Given the description of an element on the screen output the (x, y) to click on. 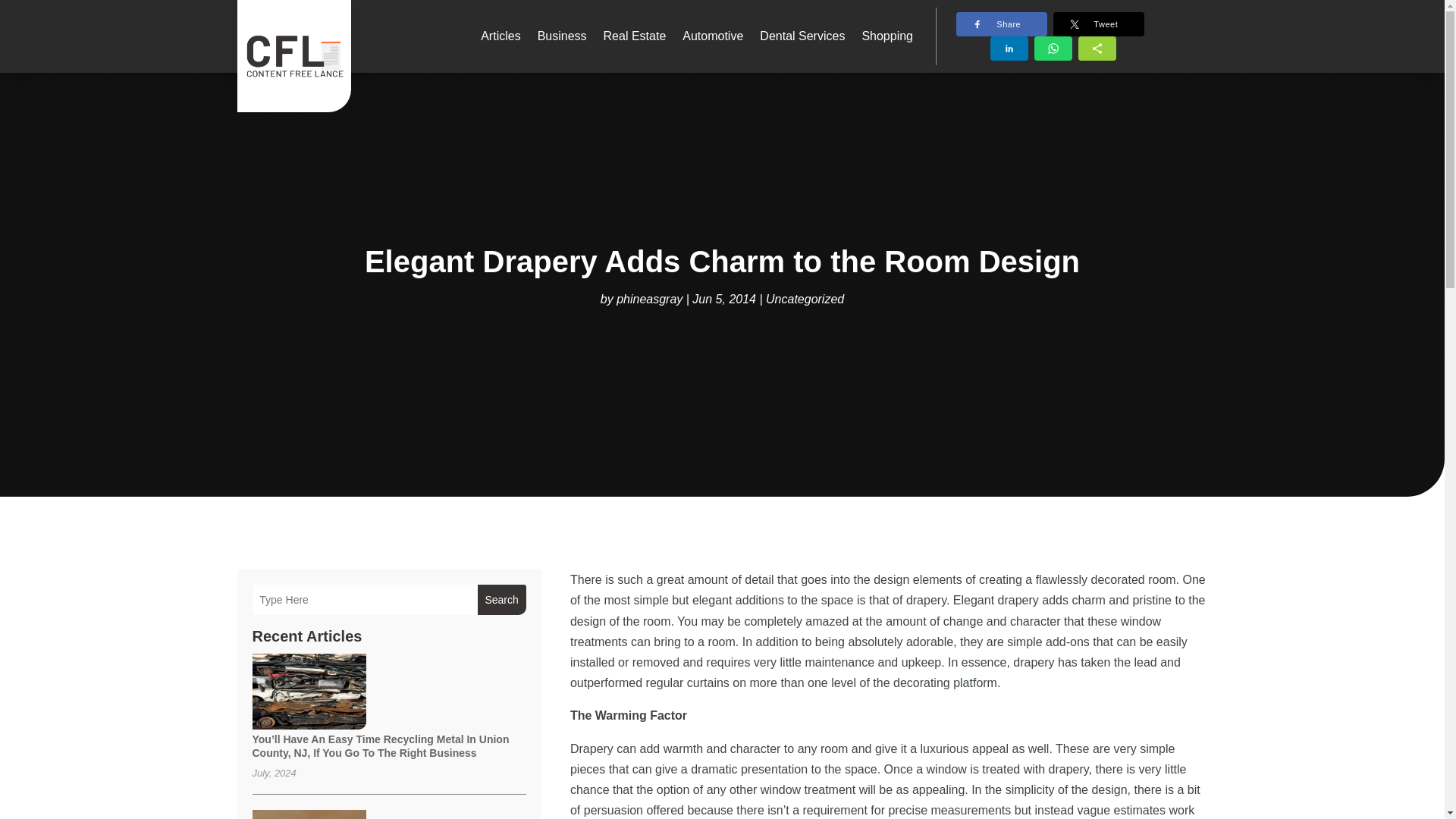
Shopping (886, 36)
Automotive (712, 36)
Search (501, 599)
Posts by phineasgray (648, 298)
phineasgray (648, 298)
Dental Services (802, 36)
Real Estate (635, 36)
